Given the description of an element on the screen output the (x, y) to click on. 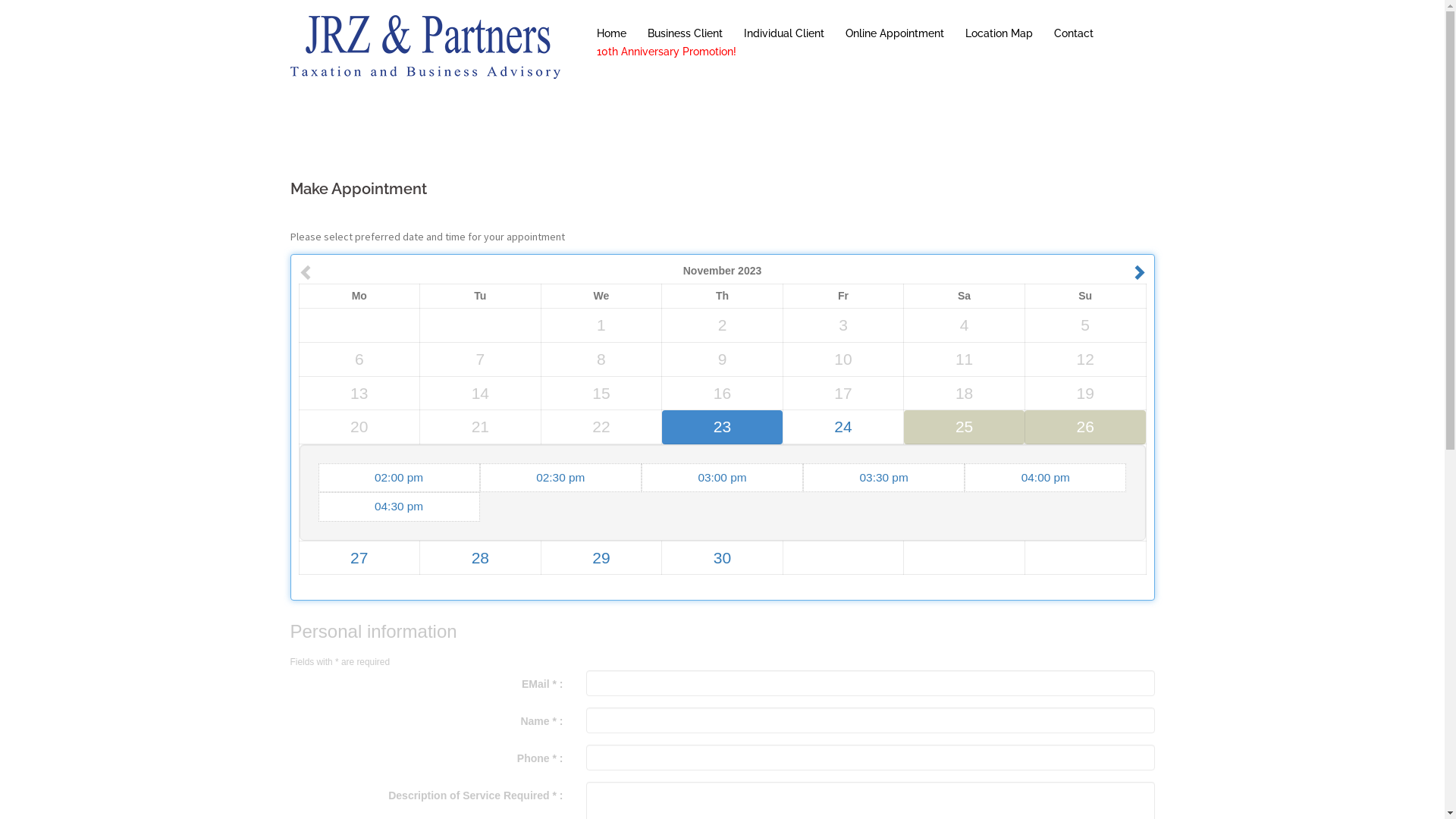
Contact Element type: text (1073, 34)
30 Element type: text (722, 557)
27 Element type: text (358, 557)
03:00 pm Element type: text (722, 477)
29 Element type: text (600, 557)
02:00 pm Element type: text (399, 477)
Next Element type: hover (1134, 271)
Prev Element type: hover (309, 271)
Location Map Element type: text (998, 34)
02:30 pm Element type: text (560, 477)
25 Element type: text (963, 426)
24 Element type: text (842, 426)
04:30 pm Element type: text (399, 506)
04:00 pm Element type: text (1045, 477)
Online Appointment Element type: text (893, 34)
Skip to content Element type: text (0, 0)
Individual Client Element type: text (783, 34)
Home Element type: text (610, 34)
03:30 pm Element type: text (883, 477)
26 Element type: text (1085, 426)
Business Client Element type: text (684, 34)
10th Anniversary Promotion! Element type: text (665, 56)
28 Element type: text (480, 557)
23 Element type: text (722, 426)
